Given the description of an element on the screen output the (x, y) to click on. 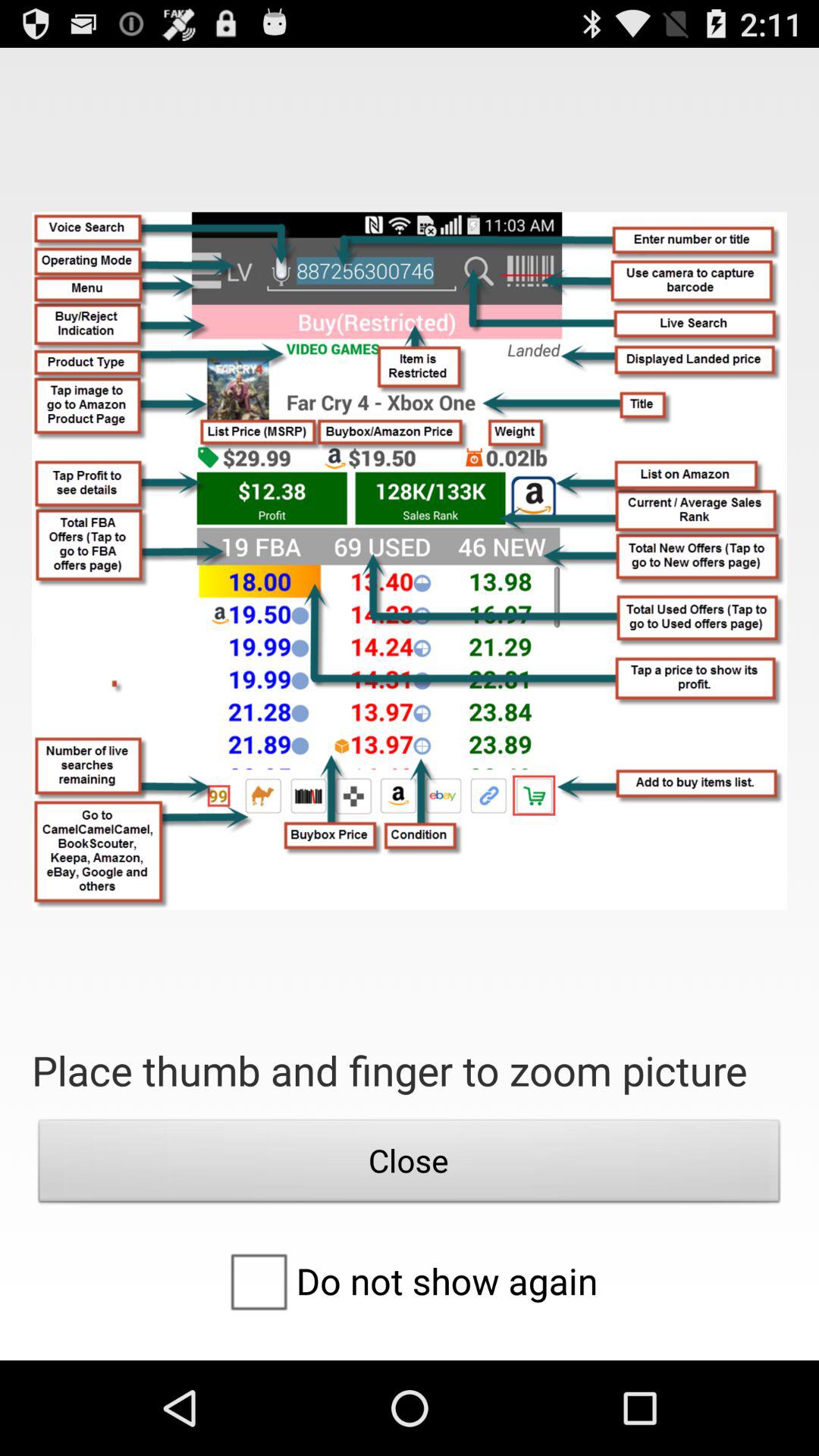
launch the close item (409, 1165)
